Given the description of an element on the screen output the (x, y) to click on. 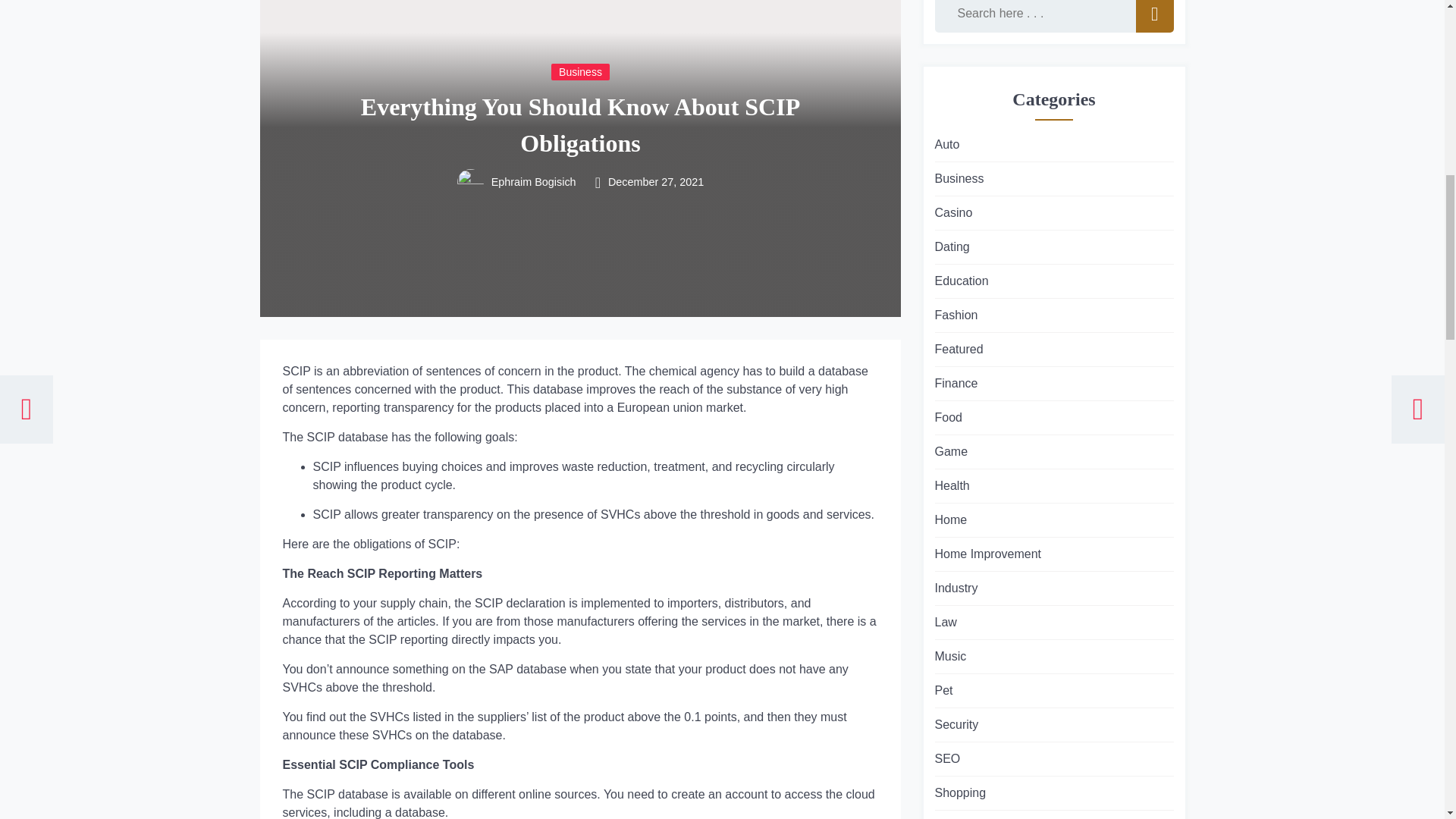
Business (580, 71)
Ephraim Bogisich (532, 182)
December 27, 2021 (655, 182)
